Given the description of an element on the screen output the (x, y) to click on. 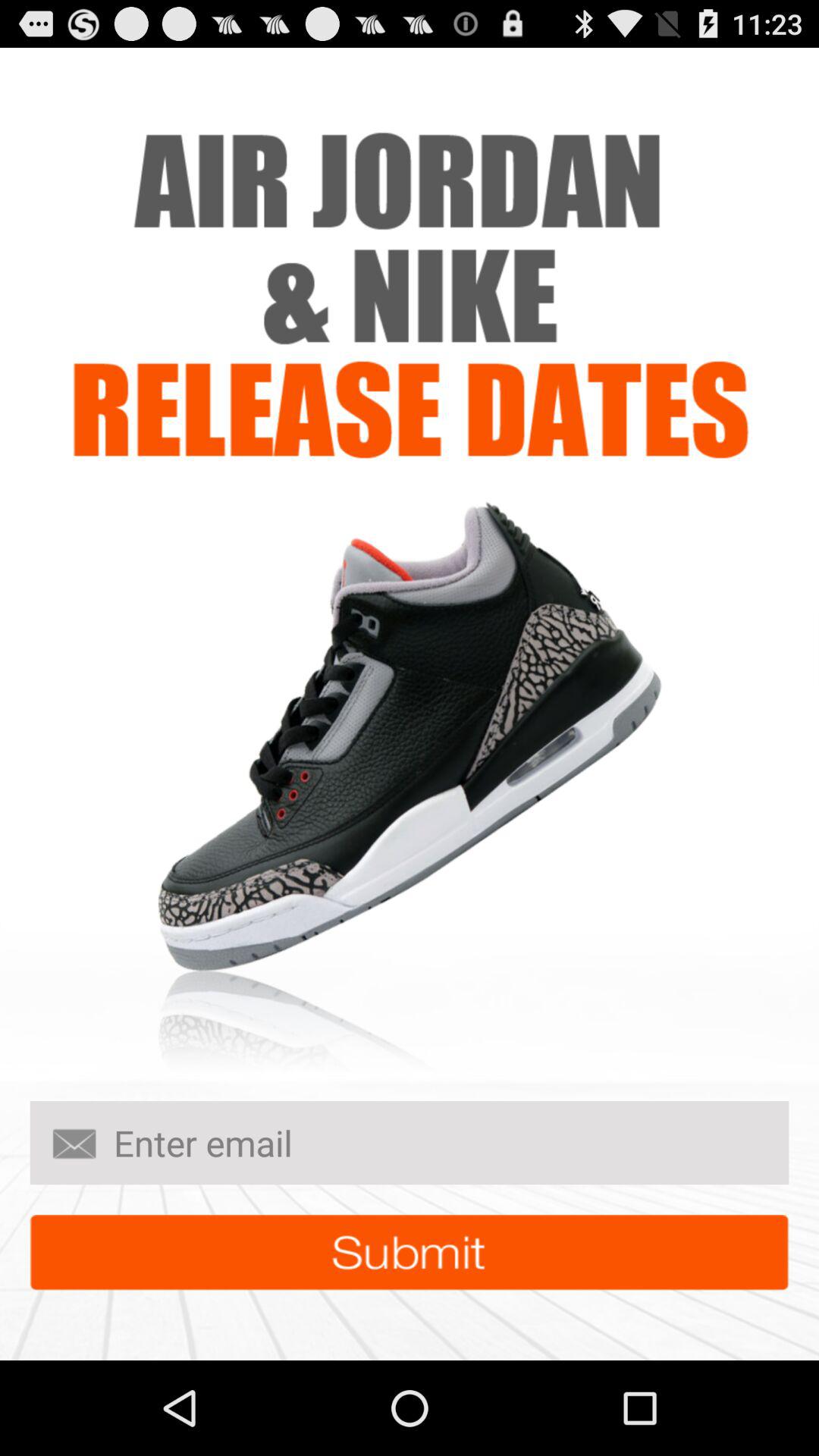
submit button (409, 1252)
